Given the description of an element on the screen output the (x, y) to click on. 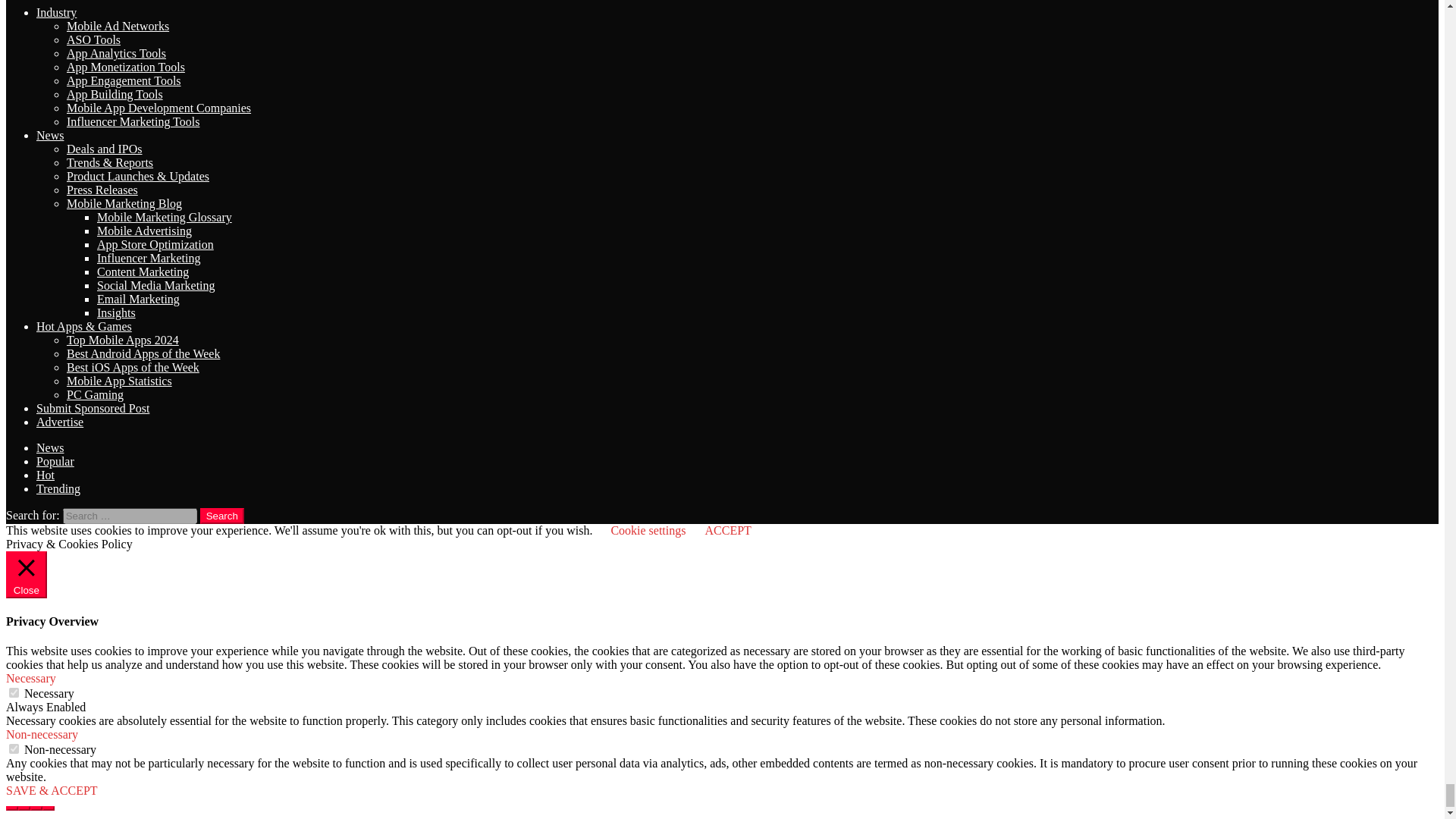
on (13, 748)
on (13, 692)
